Given the description of an element on the screen output the (x, y) to click on. 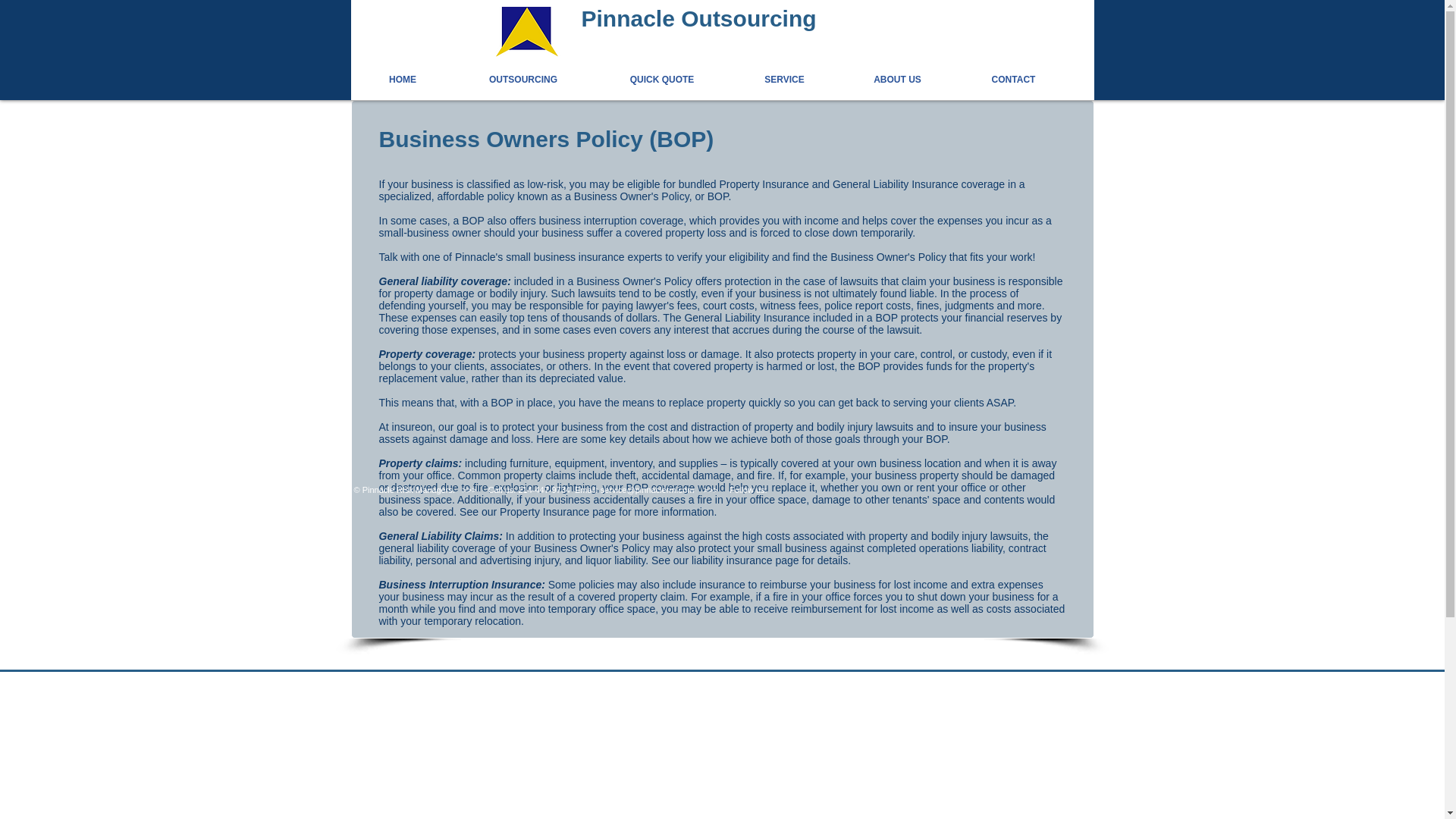
QUICK QUOTE (639, 78)
pinnacle.png (525, 30)
CONTACT (989, 78)
ABOUT US (875, 78)
SERVICE (761, 78)
OUTSOURCING (499, 78)
HOME (402, 78)
